Given the description of an element on the screen output the (x, y) to click on. 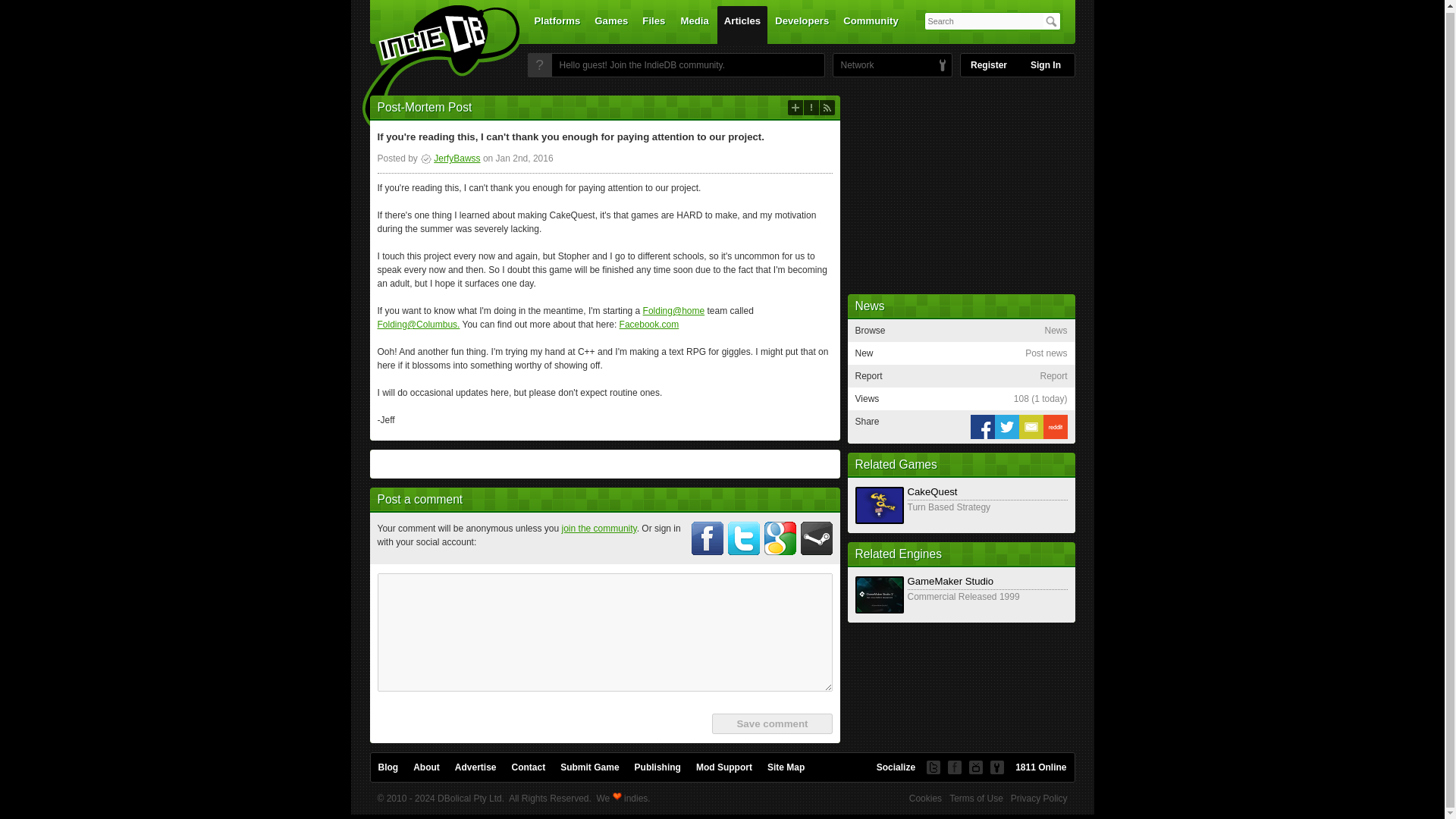
Report (810, 107)
Developers (801, 24)
Games (611, 24)
Save comment (771, 723)
DBolical (852, 65)
Search IndieDB (1050, 20)
Community (870, 24)
Click to connect via Steam (816, 538)
Article Manager (450, 158)
Click to connect via Facebook (707, 538)
Click to connect via Twitter (744, 538)
Home (430, 68)
Media (694, 24)
Post news (794, 107)
